Given the description of an element on the screen output the (x, y) to click on. 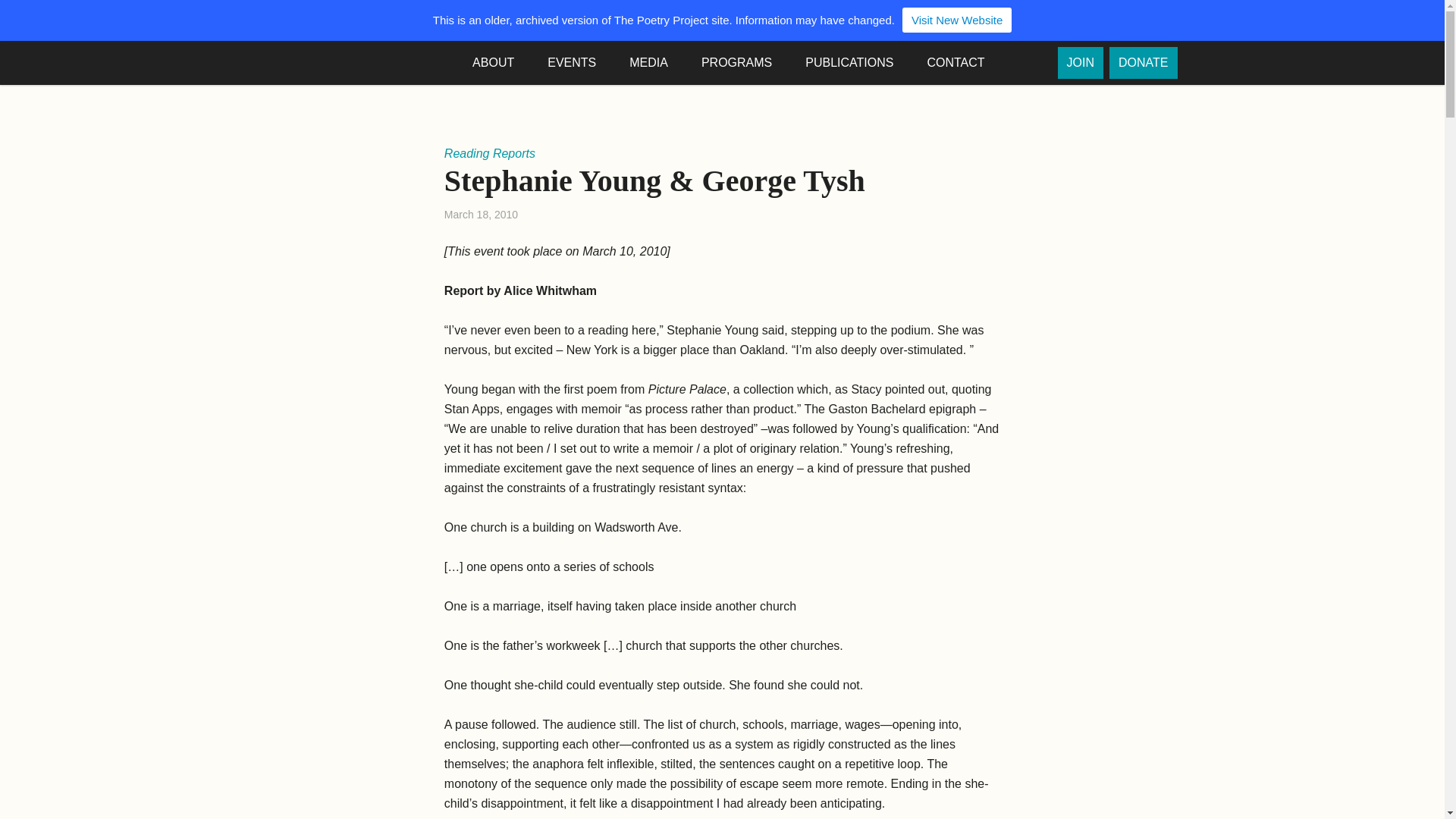
MEDIA (656, 62)
The Poetry Project (336, 61)
PUBLICATIONS (856, 62)
CONTACT (963, 62)
SEARCH (1030, 62)
JOIN (1080, 62)
PROGRAMS (744, 62)
DONATE (1142, 62)
EVENTS (579, 62)
ABOUT (500, 62)
